Given the description of an element on the screen output the (x, y) to click on. 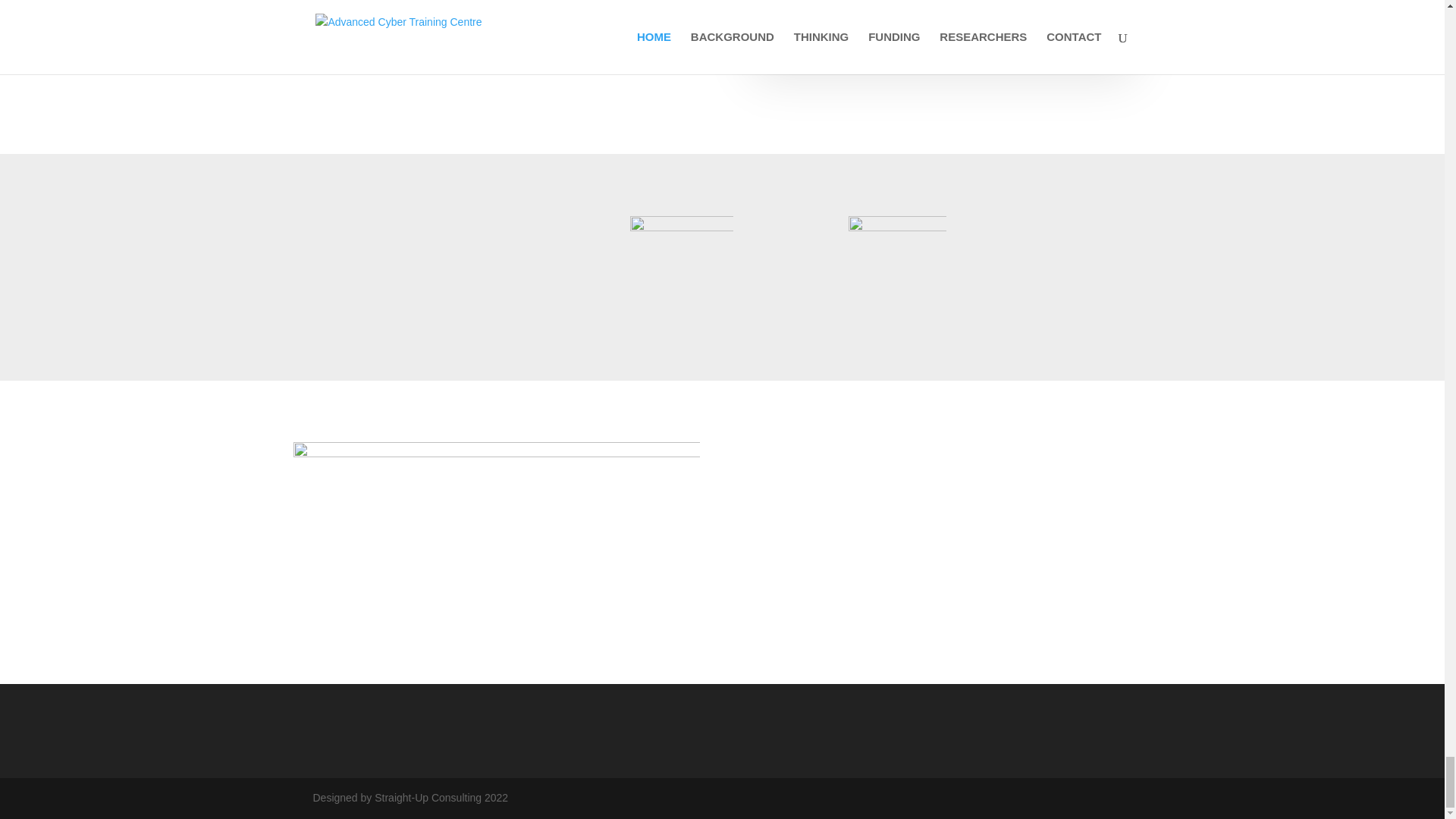
University of Melbourne (681, 267)
the-university-of-south-wales-logo-6642E297DF-seeklogo.com (897, 264)
ADVANCED CYBER TRAINING CENTRE (495, 499)
